Given the description of an element on the screen output the (x, y) to click on. 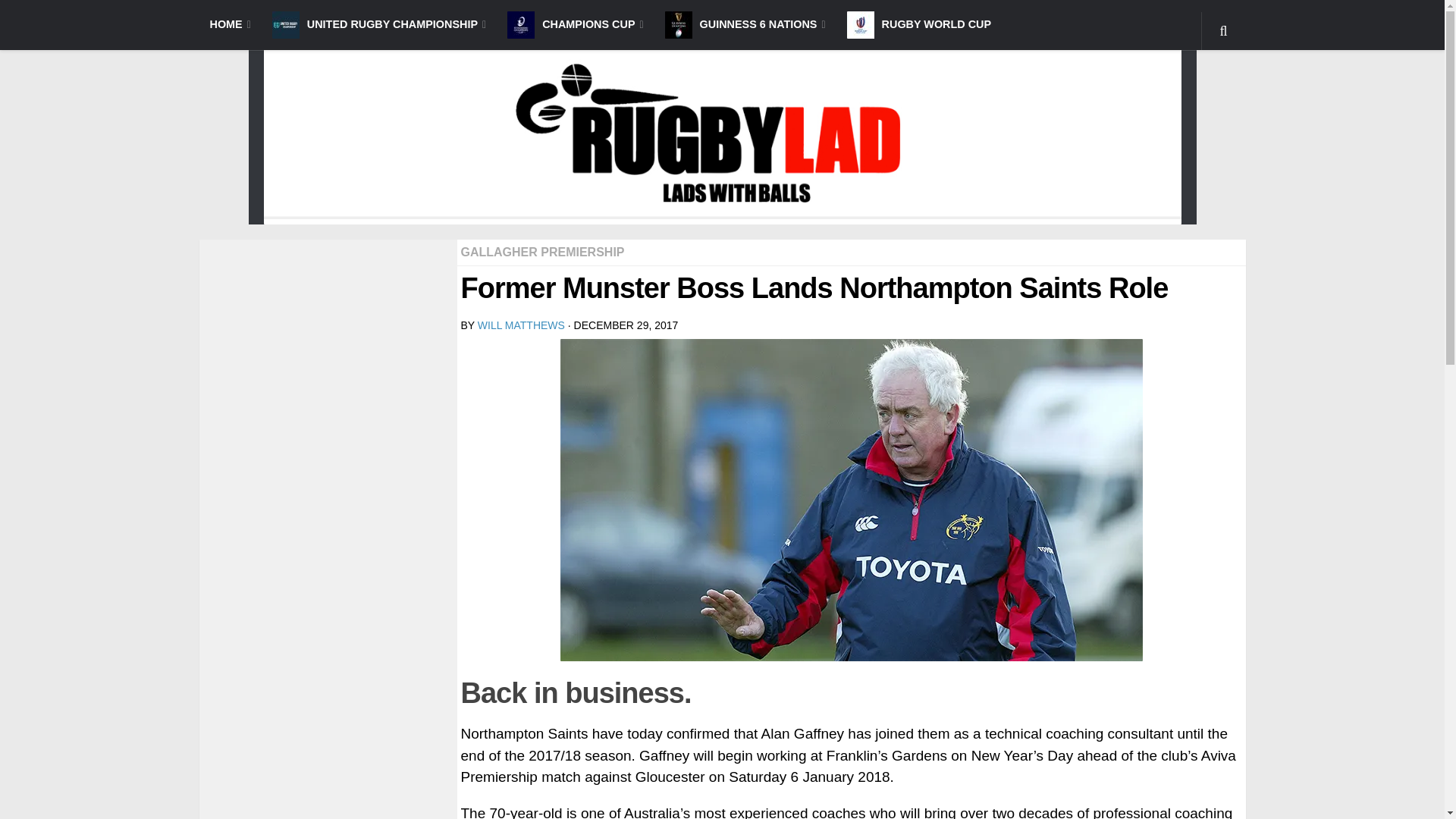
WILL MATTHEWS (520, 325)
Posts by Will Matthews (520, 325)
HOME (229, 23)
GUINNESS 6 NATIONS (744, 24)
GALLAGHER PREMIERSHIP (542, 251)
RUGBY WORLD CUP (918, 24)
CHAMPIONS CUP (574, 24)
UNITED RUGBY CHAMPIONSHIP (379, 24)
